Given the description of an element on the screen output the (x, y) to click on. 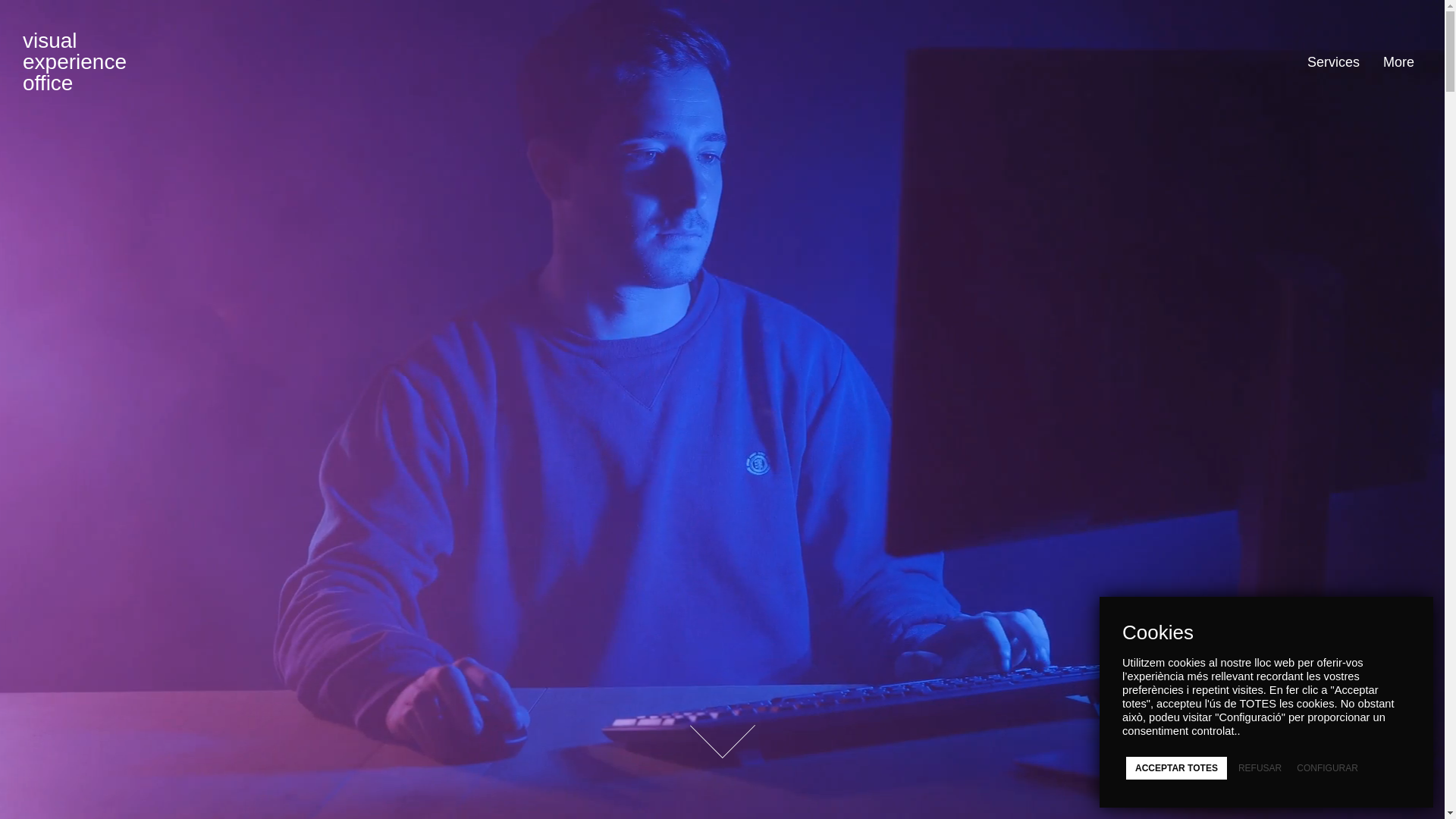
Services Element type: text (1327, 61)
REFUSAR Element type: text (1253, 768)
visual
experience
office Element type: text (74, 61)
CONFIGURAR Element type: text (1321, 768)
ACCEPTAR TOTES Element type: text (1176, 767)
More Element type: text (1392, 61)
